Given the description of an element on the screen output the (x, y) to click on. 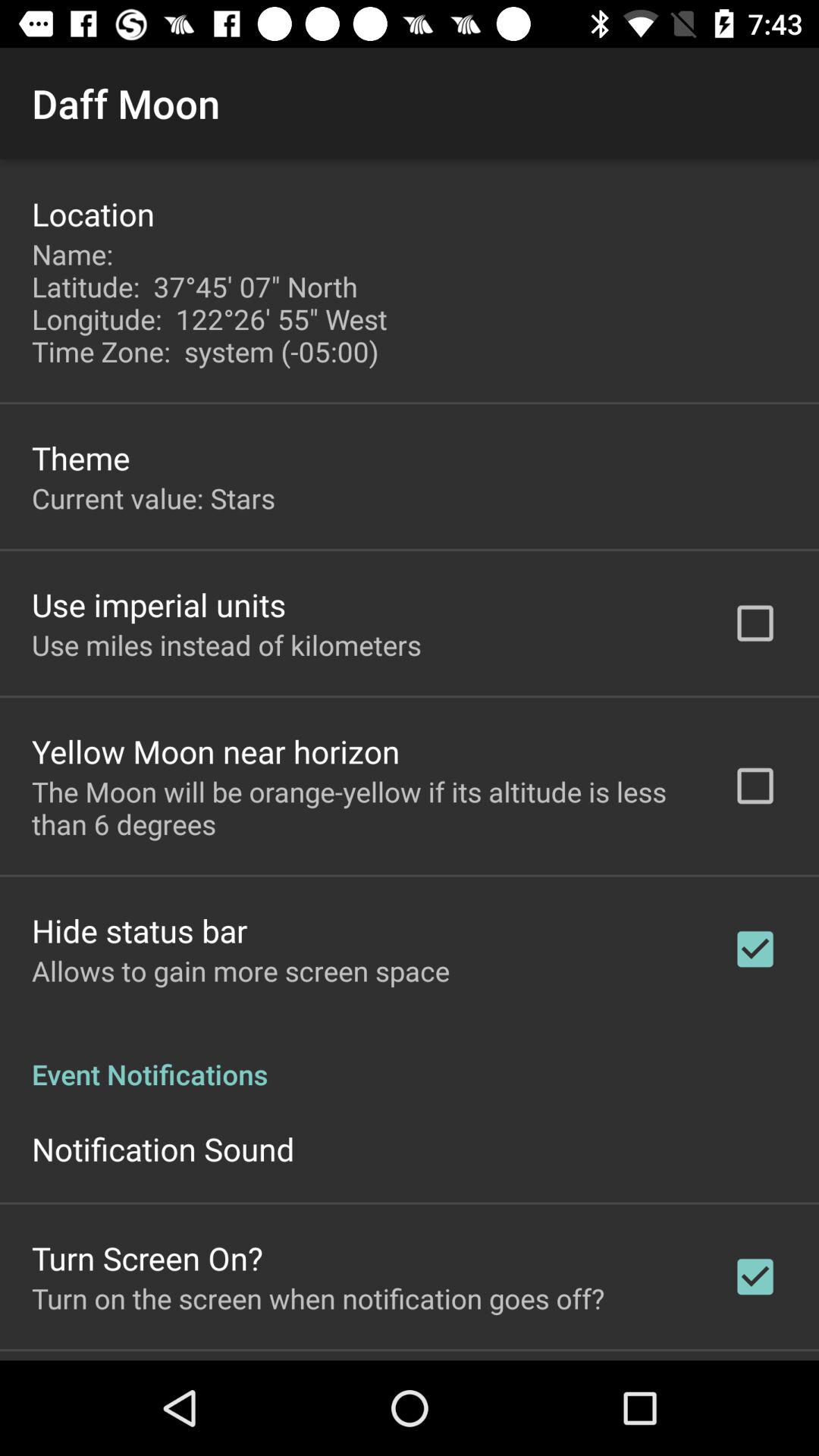
open the app above hide status bar (361, 807)
